Given the description of an element on the screen output the (x, y) to click on. 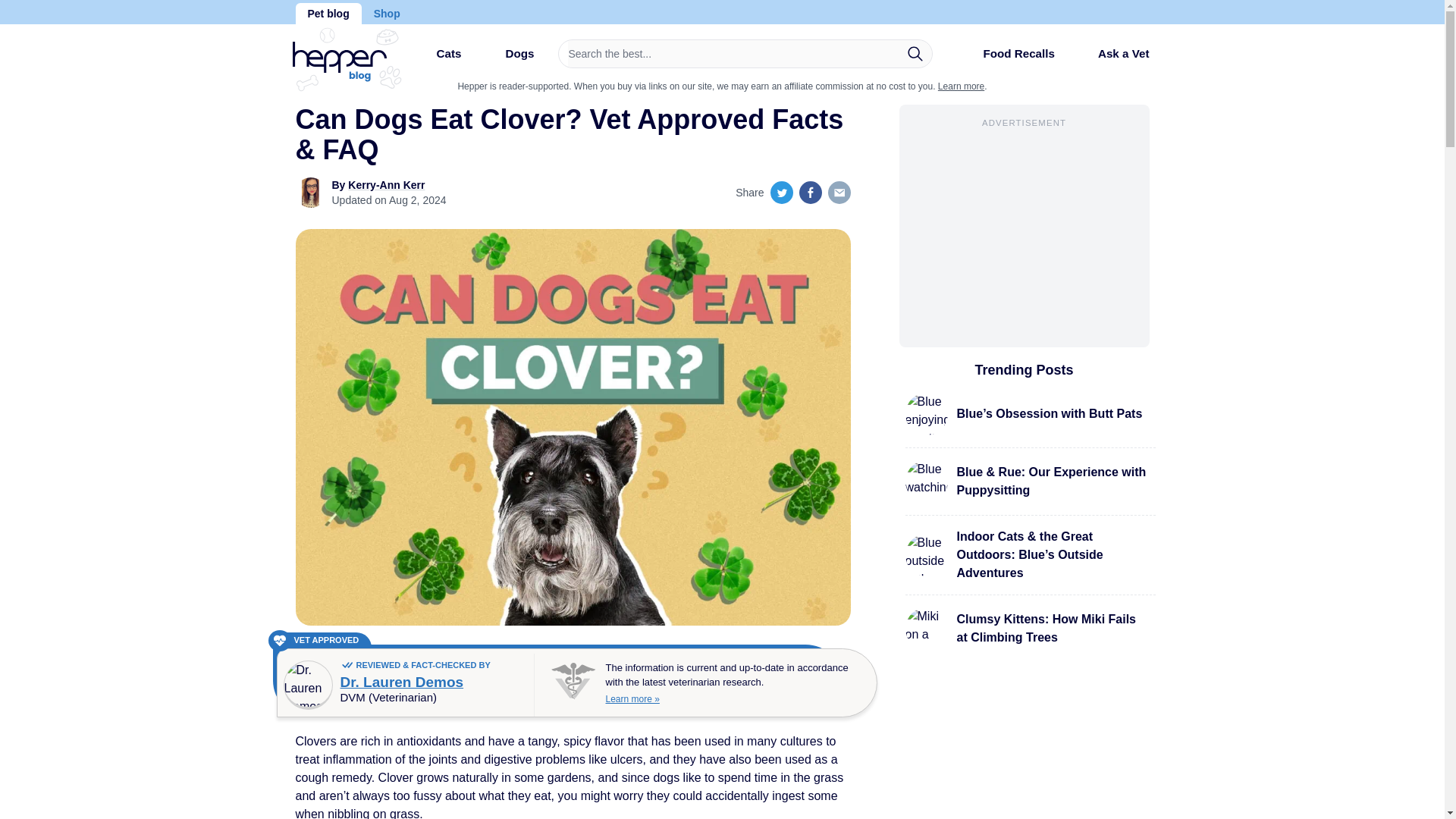
Vet photo (308, 685)
Dr. Lauren Demos (401, 682)
Food Recalls (1005, 59)
Dogs (506, 59)
Kerry-Ann Kerr (386, 184)
Ask a Vet (1111, 53)
Learn more (960, 86)
Shop (387, 13)
Cats (435, 59)
